Given the description of an element on the screen output the (x, y) to click on. 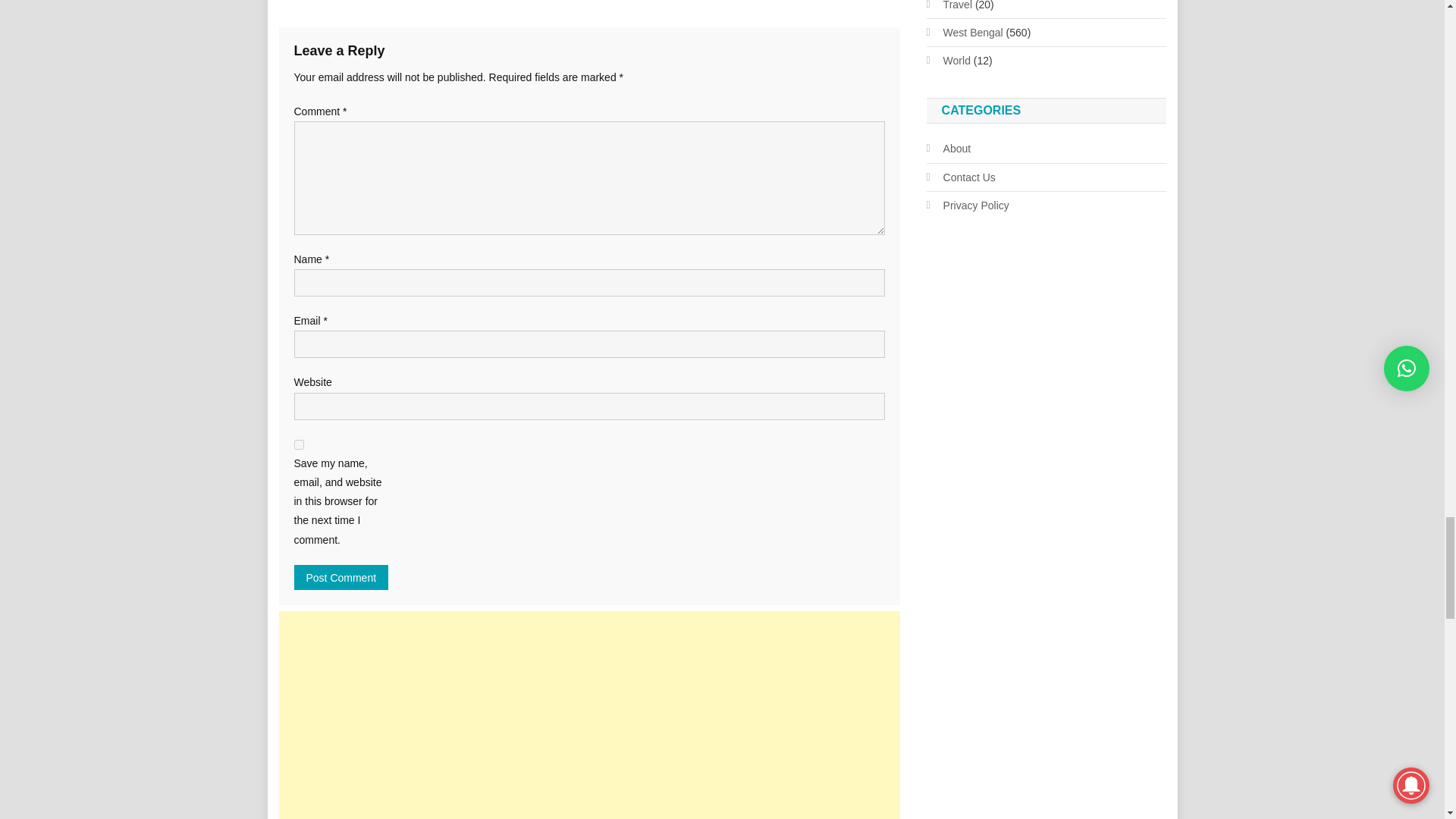
yes (299, 444)
Post Comment (341, 577)
